Given the description of an element on the screen output the (x, y) to click on. 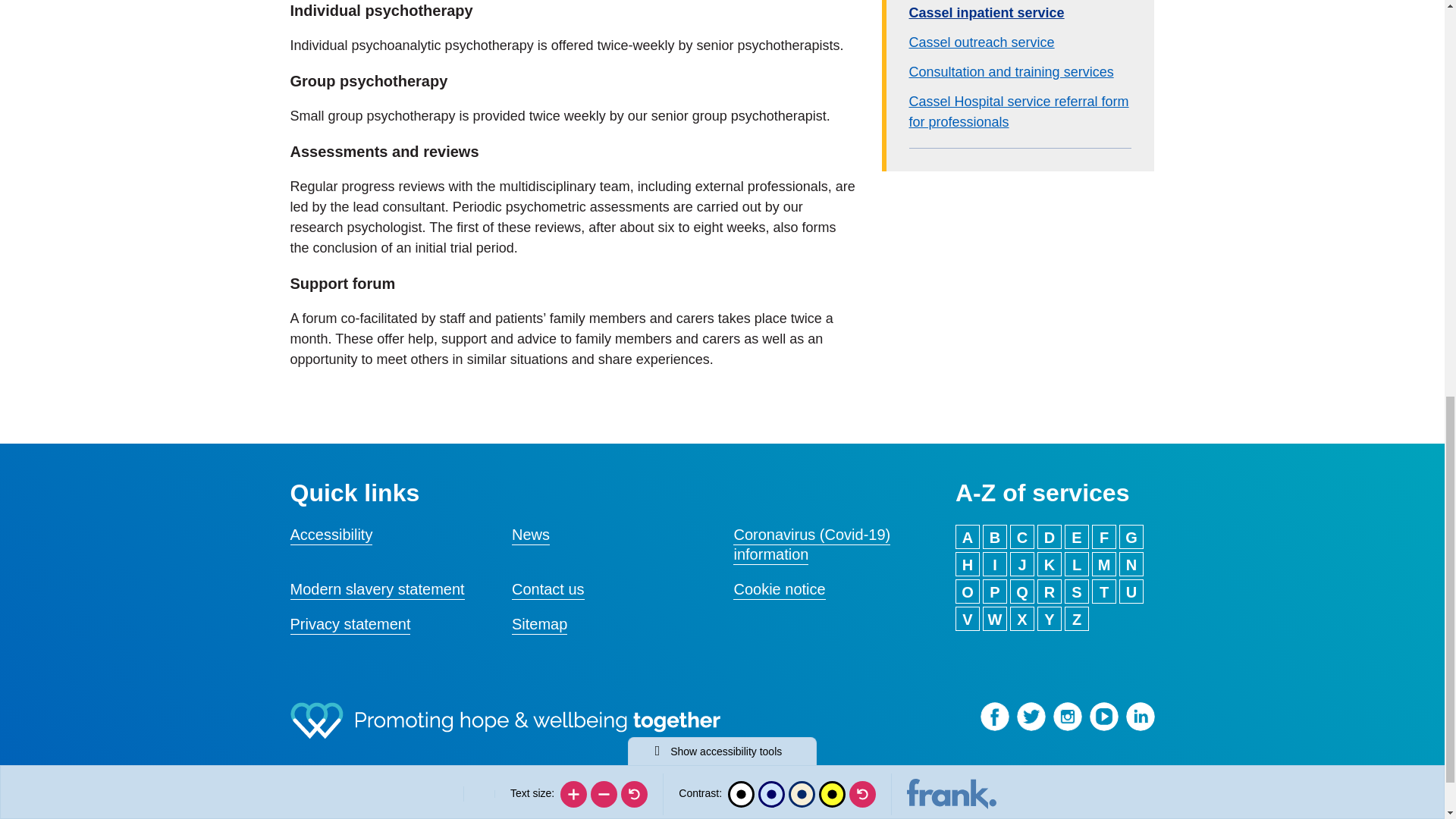
LinkedIn (1139, 716)
Twitter (1030, 716)
Youtube (1103, 716)
Facebook (994, 716)
Instagram (1066, 716)
